Given the description of an element on the screen output the (x, y) to click on. 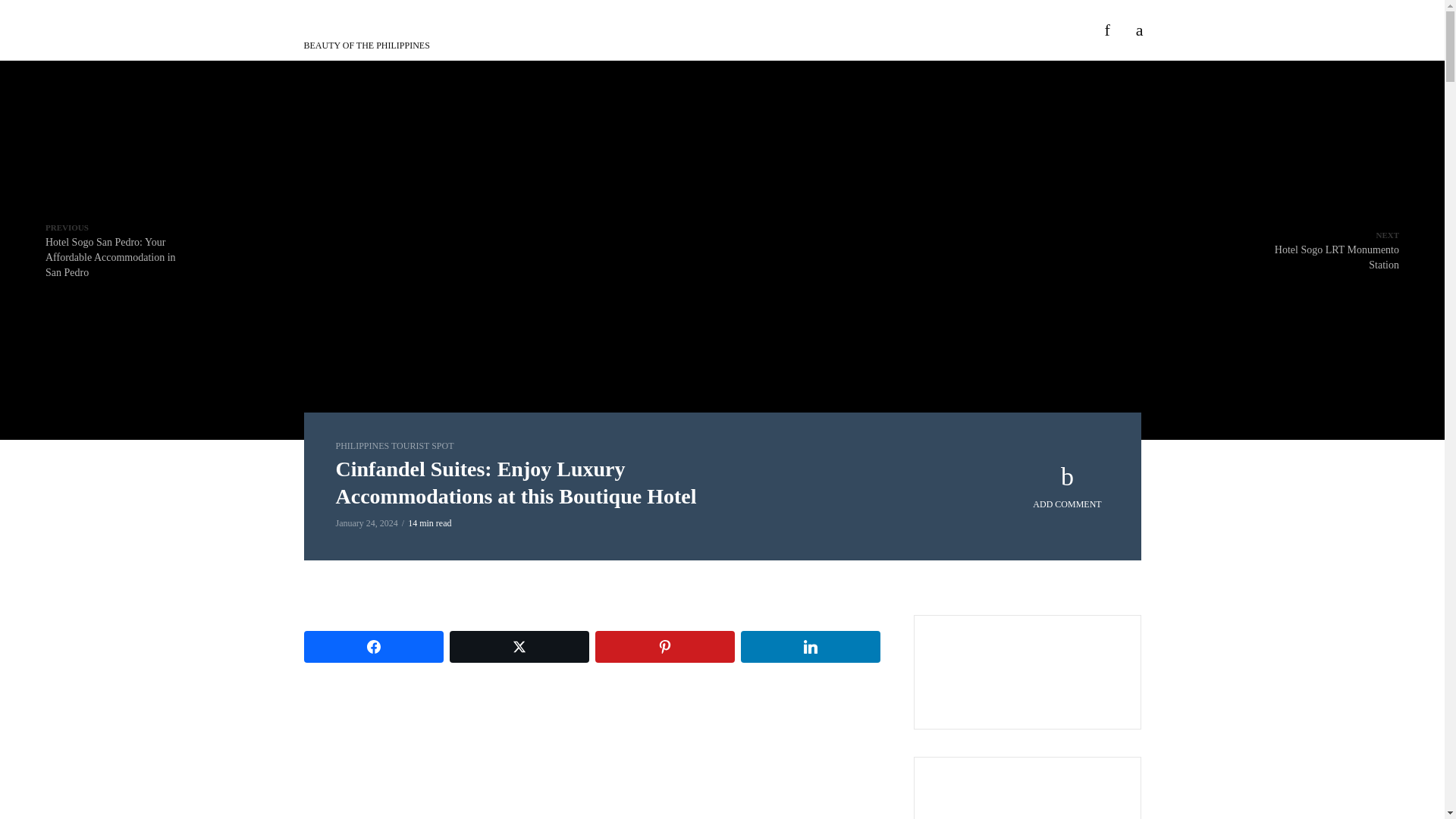
Share on LinkedIn (809, 646)
Share on Pinterest (663, 646)
Share on Facebook (372, 646)
Share on Twitter (518, 646)
